Given the description of an element on the screen output the (x, y) to click on. 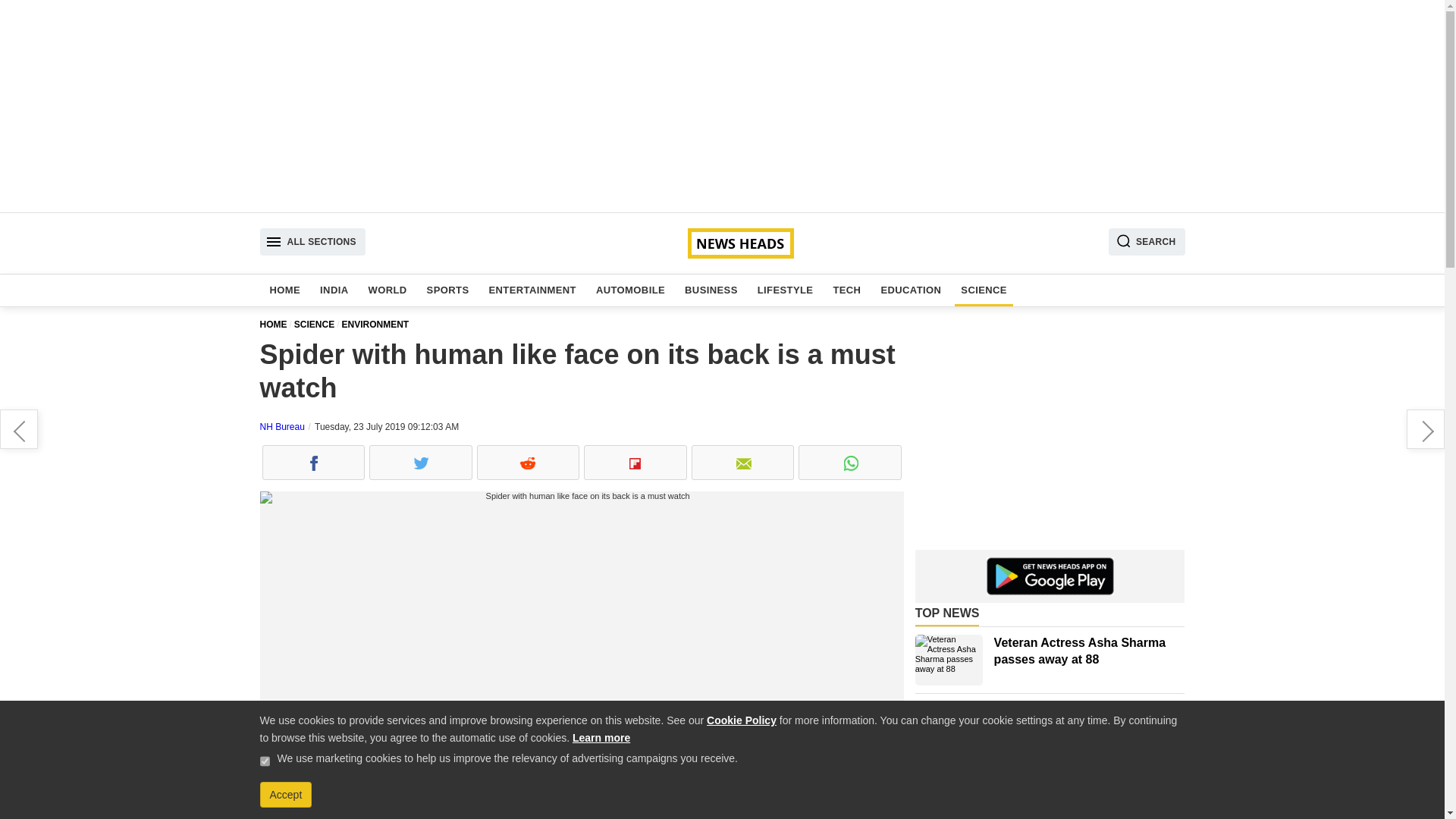
ENVIRONMENT (377, 324)
Accept (285, 794)
HOME (285, 290)
Veteran Actress Asha Sharma passes away at 88 (948, 659)
HOME (276, 324)
Cookie Policy (741, 720)
INDIA (333, 290)
SCIENCE (984, 290)
AUTOMOBILE (630, 290)
NH Bureau (281, 426)
